Given the description of an element on the screen output the (x, y) to click on. 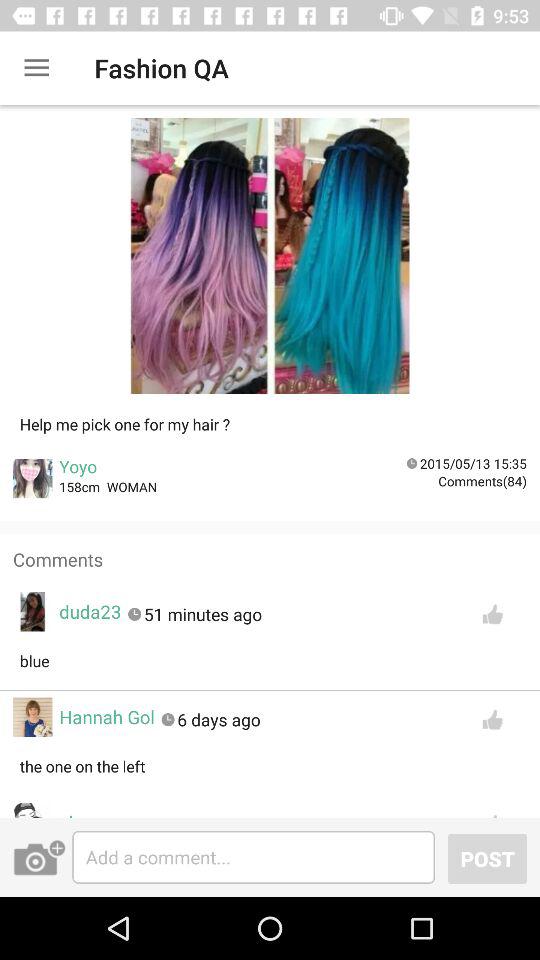
comment bar (253, 857)
